Given the description of an element on the screen output the (x, y) to click on. 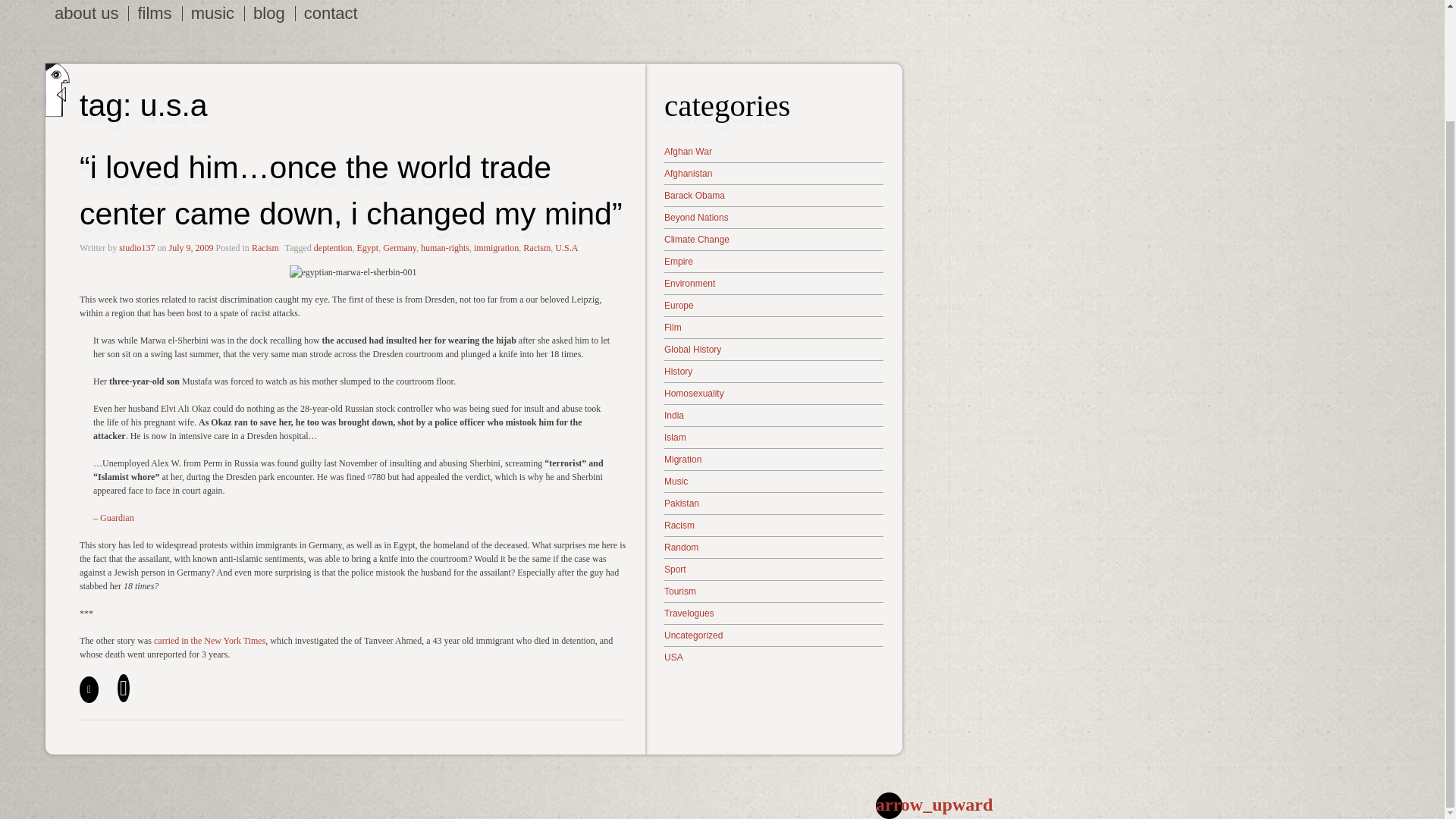
Islam (773, 436)
Music (773, 480)
Germany (399, 246)
Migration (773, 459)
Climate Change (773, 239)
Afghan War (773, 151)
Environment (773, 283)
Europe (773, 305)
about us (86, 13)
Afghanistan (773, 172)
Beyond Nations (773, 216)
music (213, 13)
studio137 (136, 246)
deptention (333, 246)
films (154, 13)
